Given the description of an element on the screen output the (x, y) to click on. 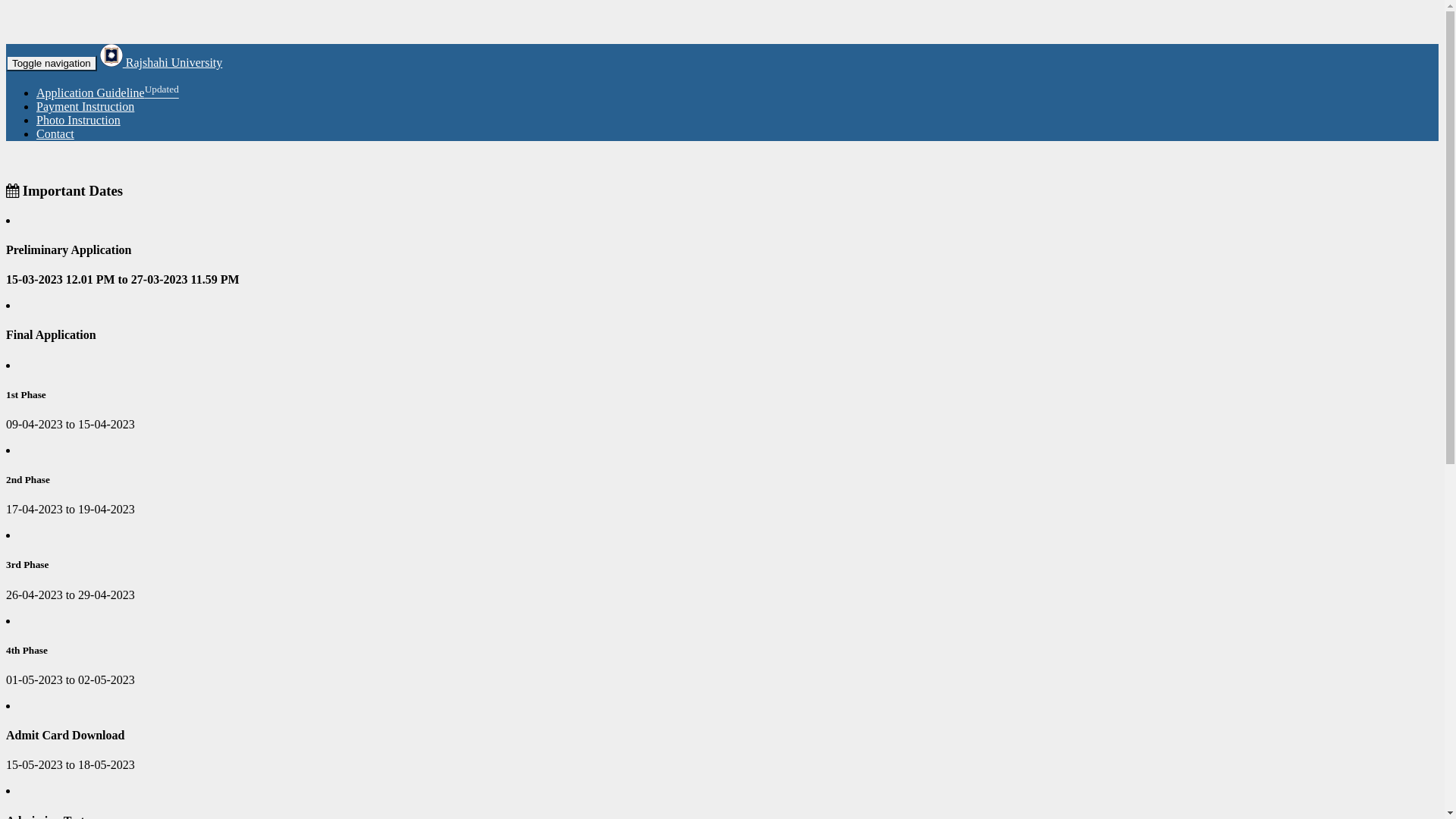
Rajshahi University Element type: text (161, 62)
Contact Element type: text (55, 133)
Application GuidelineUpdated Element type: text (107, 92)
Payment Instruction Element type: text (85, 106)
Toggle navigation Element type: text (51, 63)
Photo Instruction Element type: text (78, 119)
